Given the description of an element on the screen output the (x, y) to click on. 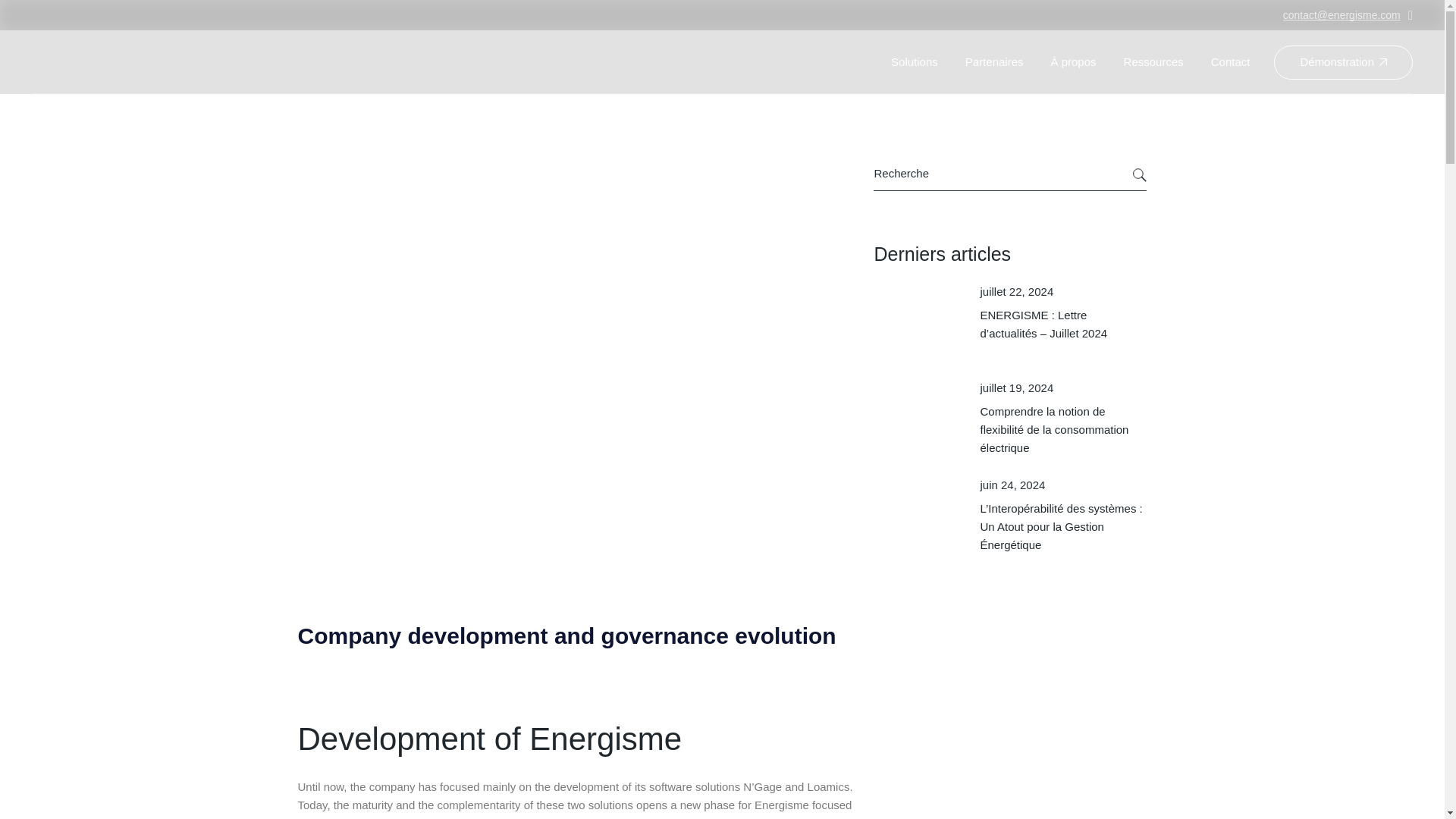
Ressources (1153, 62)
Solutions (914, 62)
Partenaires (994, 62)
Contact (1230, 62)
